Given the description of an element on the screen output the (x, y) to click on. 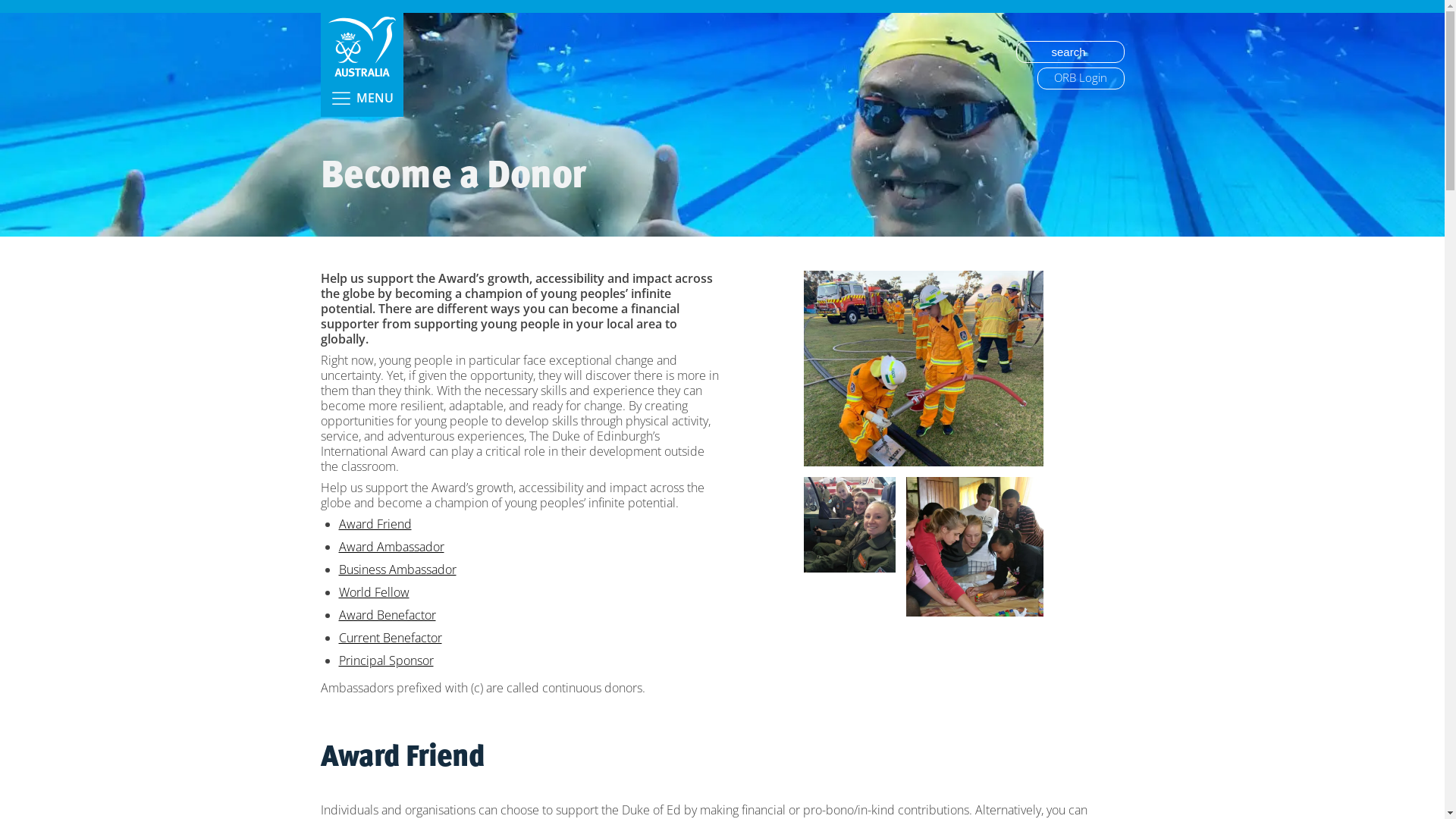
World Fellow Element type: text (373, 591)
Submit Element type: text (25, 9)
Award Ambassador Element type: text (390, 546)
ORB Login Element type: text (1080, 78)
Business Ambassador Element type: text (396, 569)
Award Benefactor Element type: text (386, 614)
Award Friend Element type: text (374, 523)
Search for: Element type: hover (1070, 51)
Principal Sponsor Element type: text (385, 660)
Current Benefactor Element type: text (389, 637)
